Given the description of an element on the screen output the (x, y) to click on. 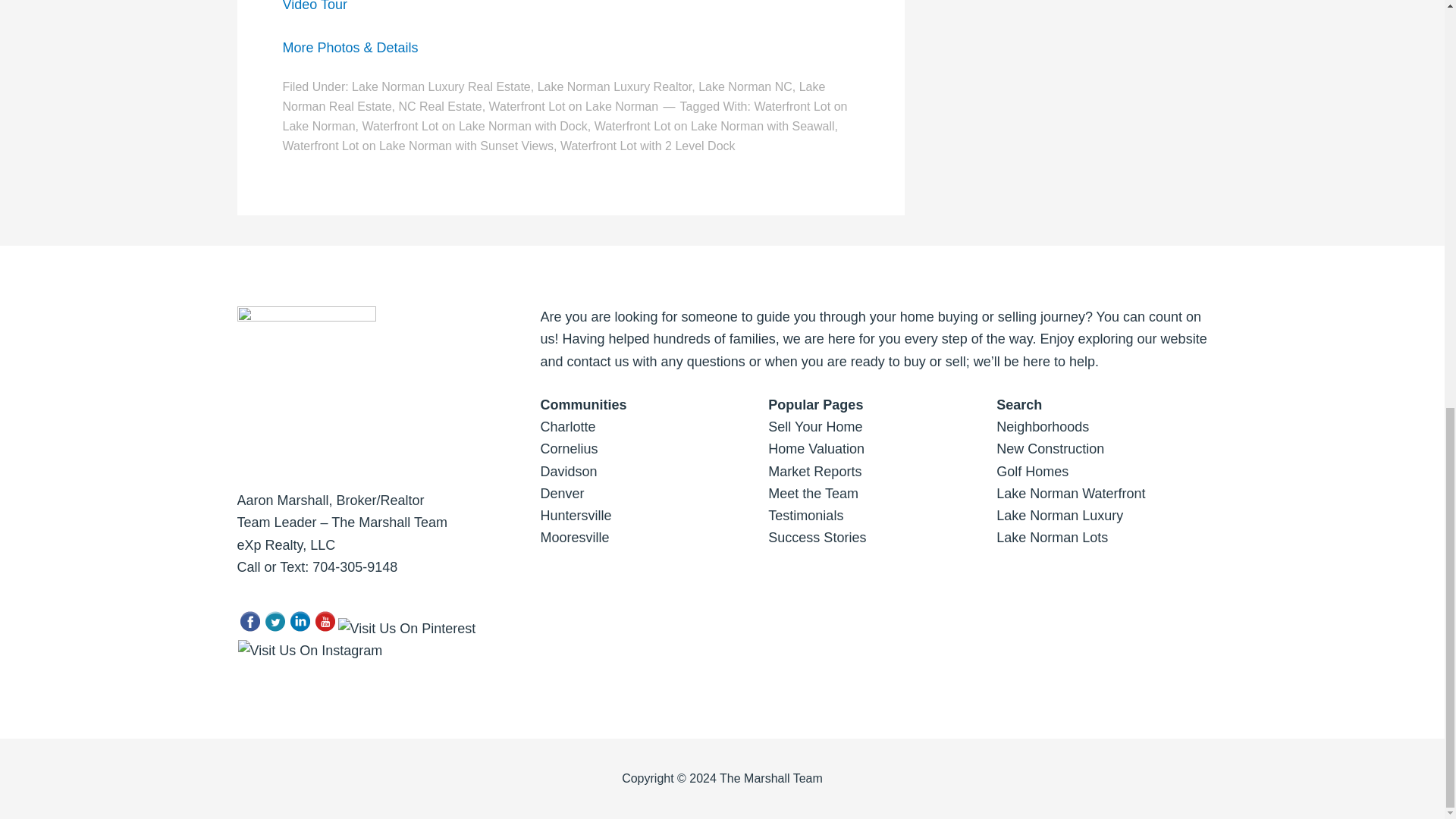
Visit Us On Linkedin (298, 628)
Video Tour (314, 6)
Visit Us On Facebook (248, 628)
Visit Us On Twitter (274, 628)
Visit Us On Youtube (325, 628)
Lake Norman Luxury Real Estate (441, 86)
Lake Norman Luxury Realtor (615, 86)
Visit Us On Pinterest (406, 628)
Lake Norman NC (745, 86)
Visit Us On Instagram (308, 650)
